Given the description of an element on the screen output the (x, y) to click on. 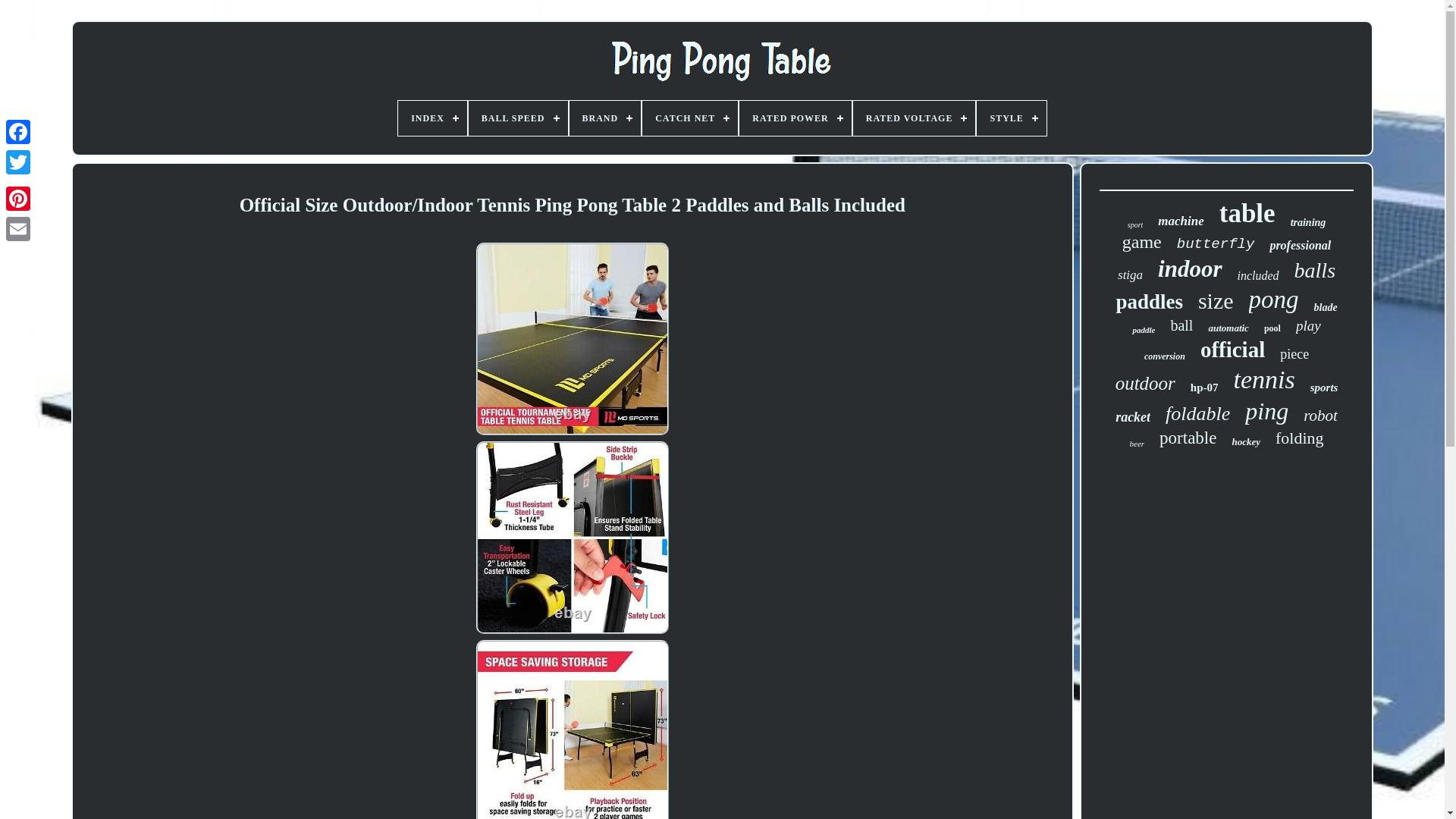
BRAND (605, 117)
CATCH NET (690, 117)
INDEX (432, 117)
BALL SPEED (517, 117)
